Given the description of an element on the screen output the (x, y) to click on. 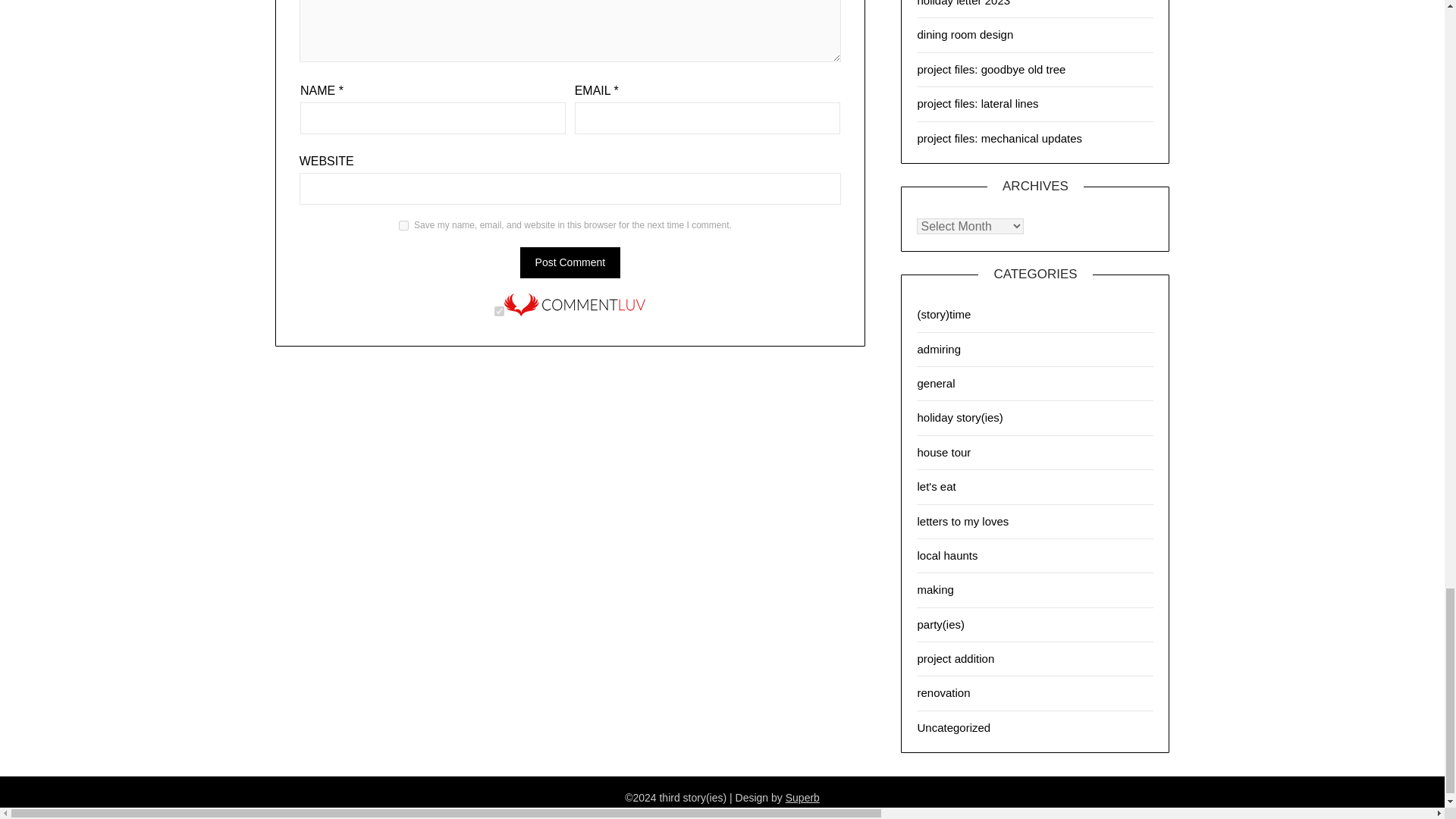
Post Comment (570, 262)
on (499, 311)
Post Comment (570, 262)
yes (403, 225)
